Given the description of an element on the screen output the (x, y) to click on. 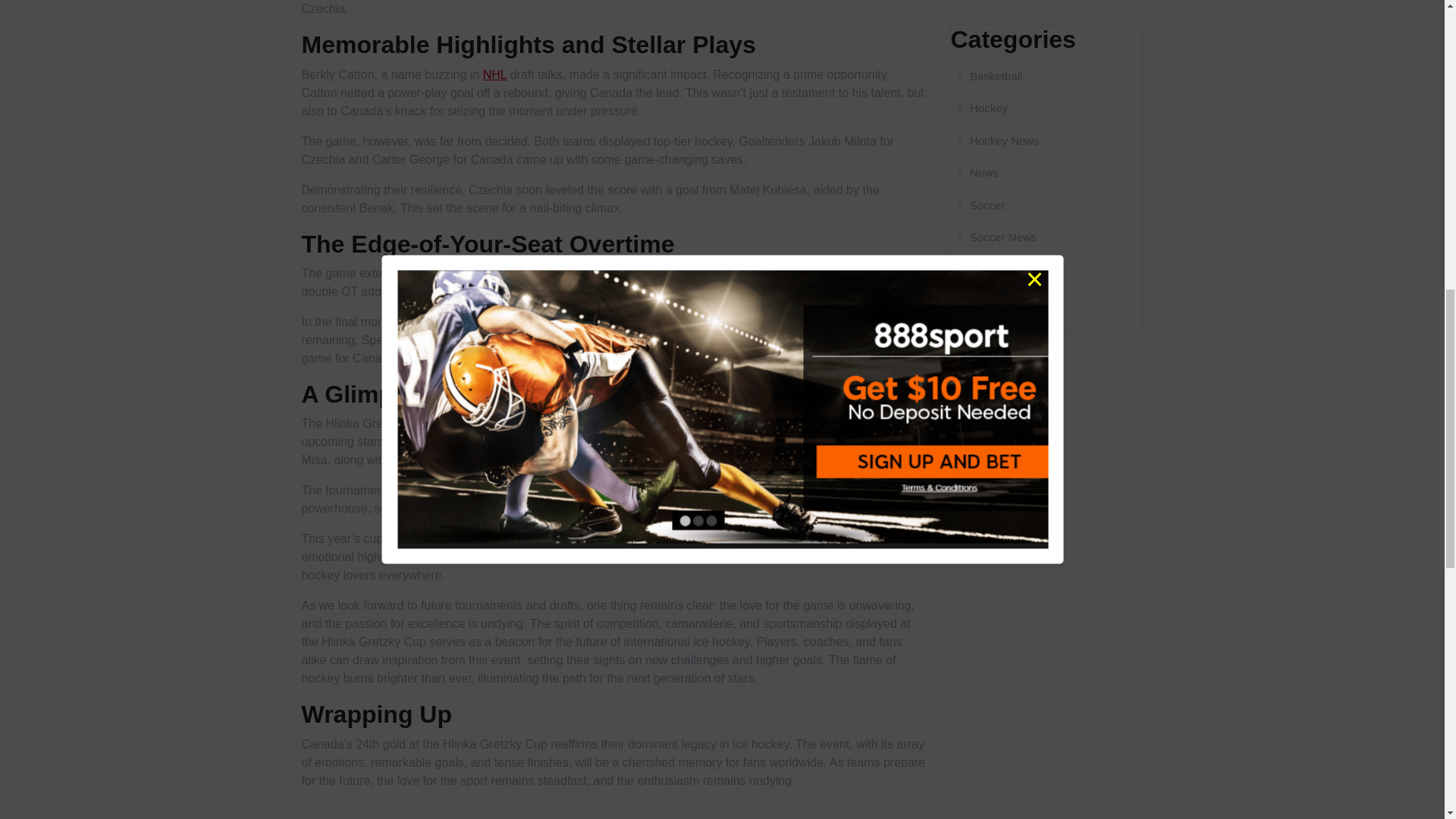
NHL (494, 74)
Hockey News (998, 139)
Basketball (990, 75)
Hockey (983, 107)
